Given the description of an element on the screen output the (x, y) to click on. 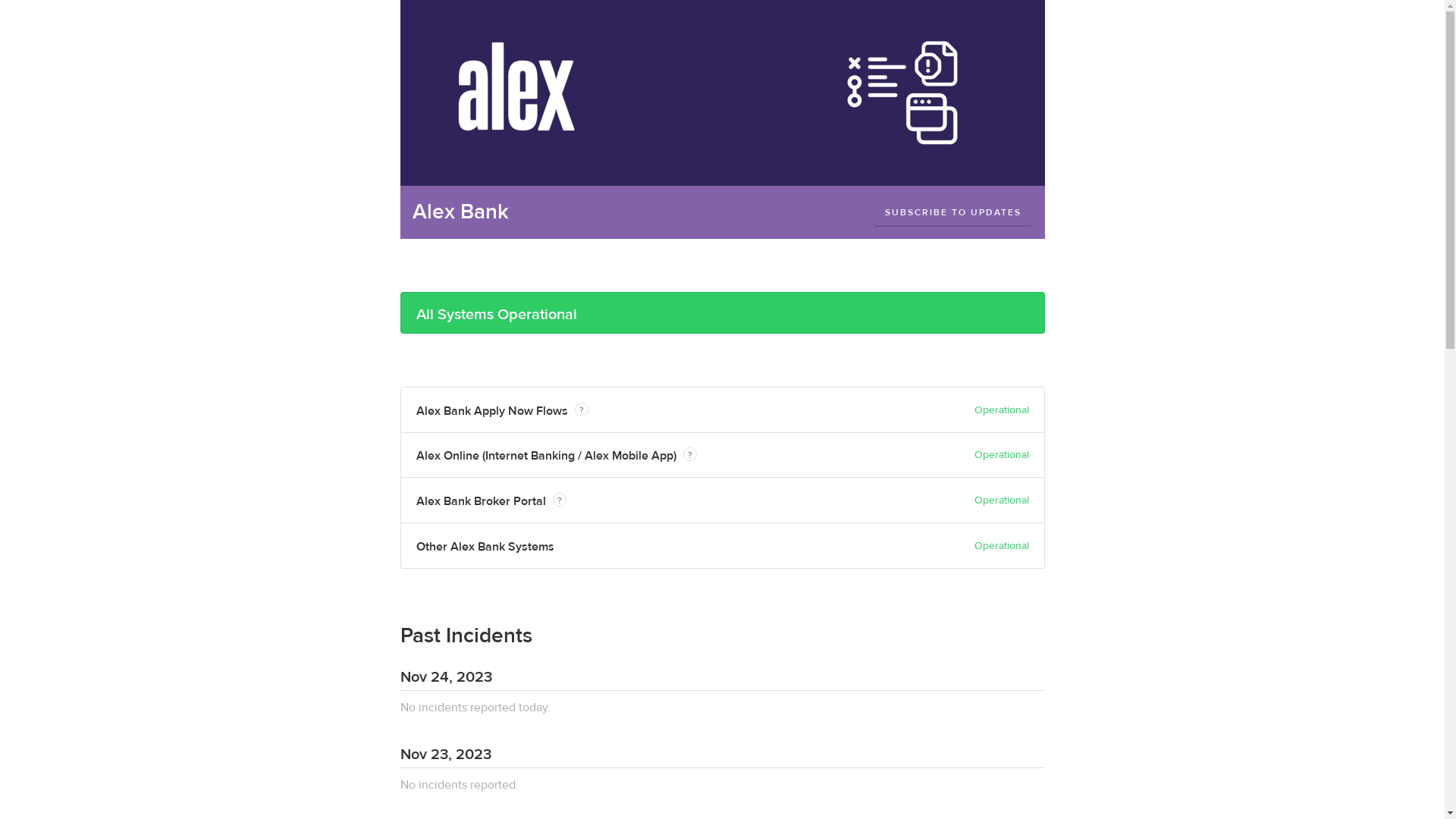
Past Incidents Element type: text (466, 635)
Alex Bank Element type: text (460, 211)
